Given the description of an element on the screen output the (x, y) to click on. 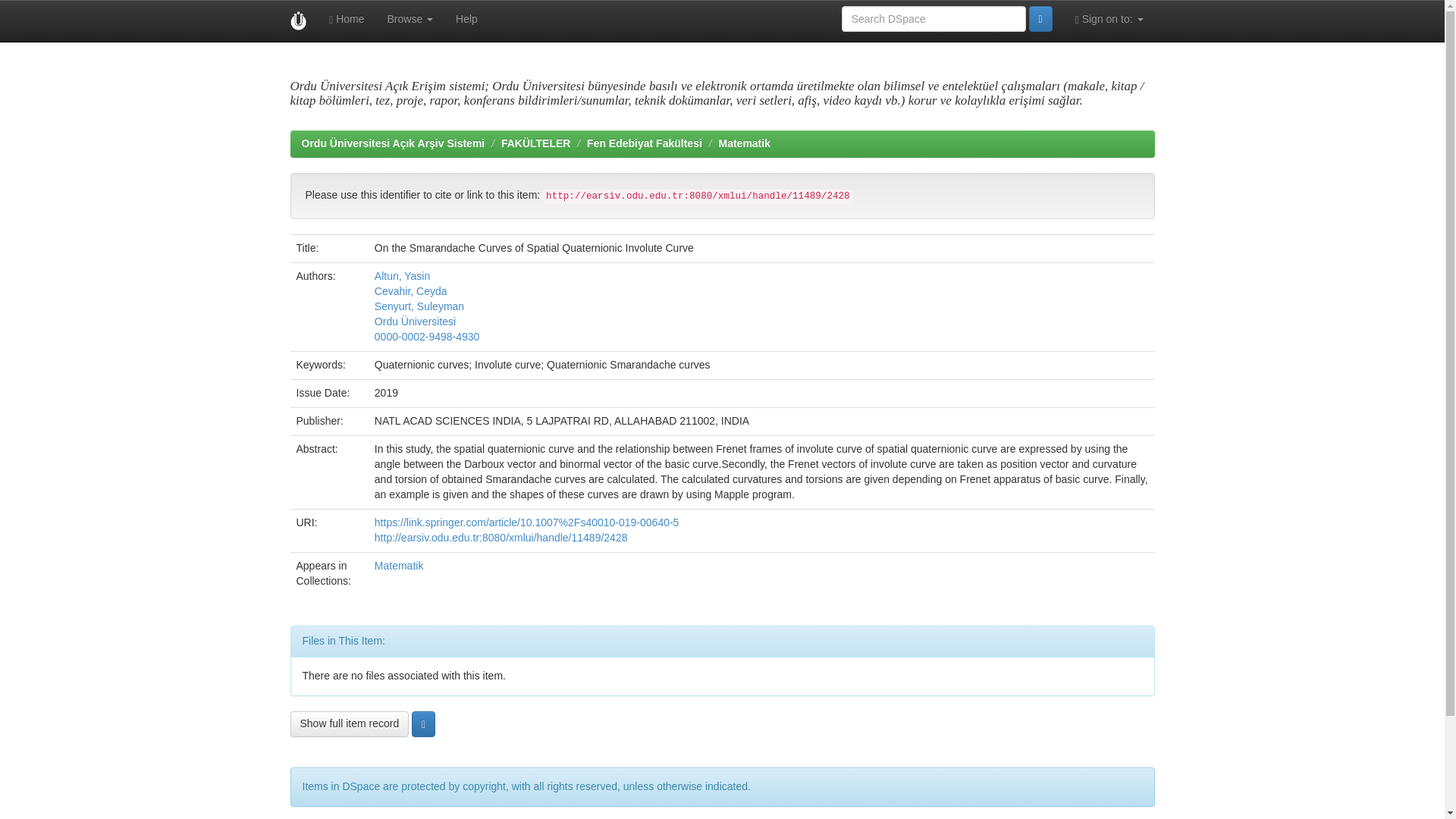
Show full item record (349, 724)
Cevahir, Ceyda (410, 291)
Altun, Yasin (401, 275)
Browse (410, 18)
Senyurt, Suleyman (419, 306)
Sign on to: (1109, 18)
Matematik (743, 143)
Matematik (398, 565)
Help (466, 18)
0000-0002-9498-4930 (427, 336)
Home (346, 18)
